Given the description of an element on the screen output the (x, y) to click on. 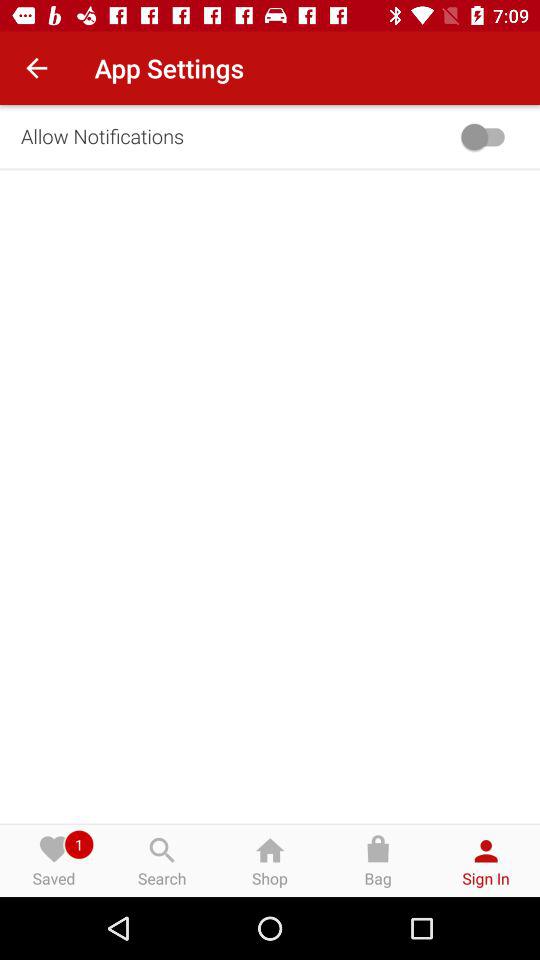
select bag option on page (378, 860)
select the text which is to the immediate left of shop (162, 860)
